Given the description of an element on the screen output the (x, y) to click on. 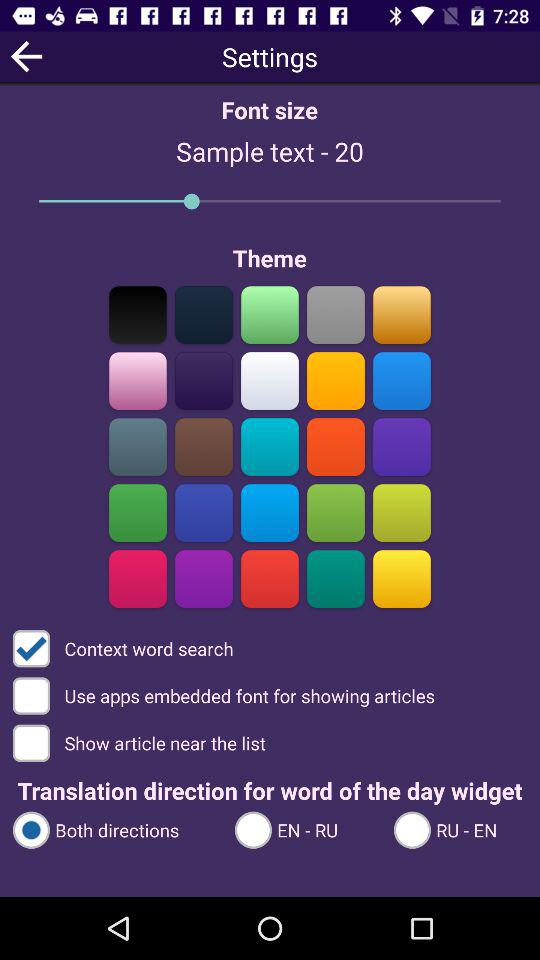
blue font color (401, 380)
